Given the description of an element on the screen output the (x, y) to click on. 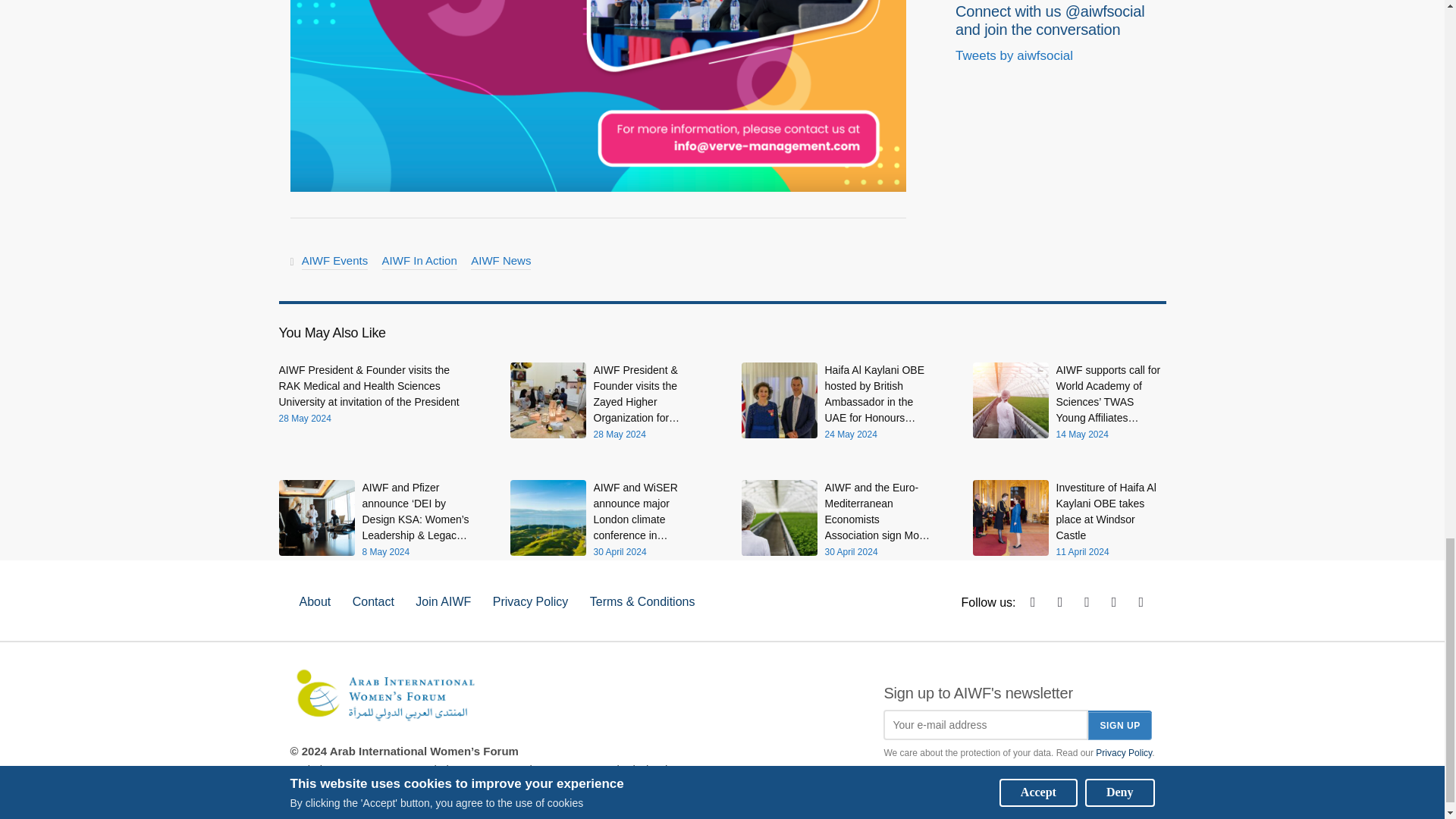
Sign up (1119, 725)
